Given the description of an element on the screen output the (x, y) to click on. 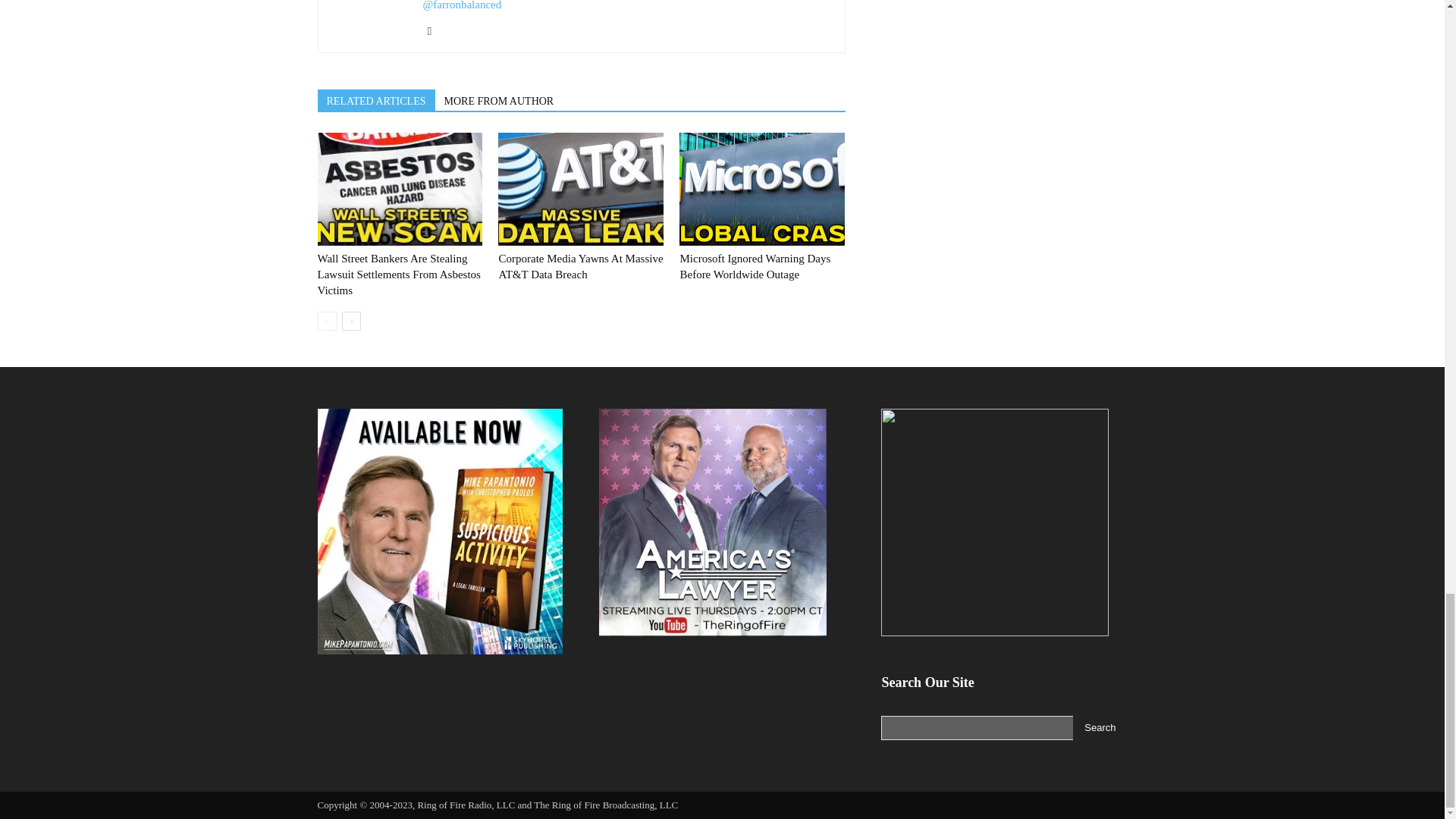
Twitter (435, 30)
Search (1099, 727)
